Given the description of an element on the screen output the (x, y) to click on. 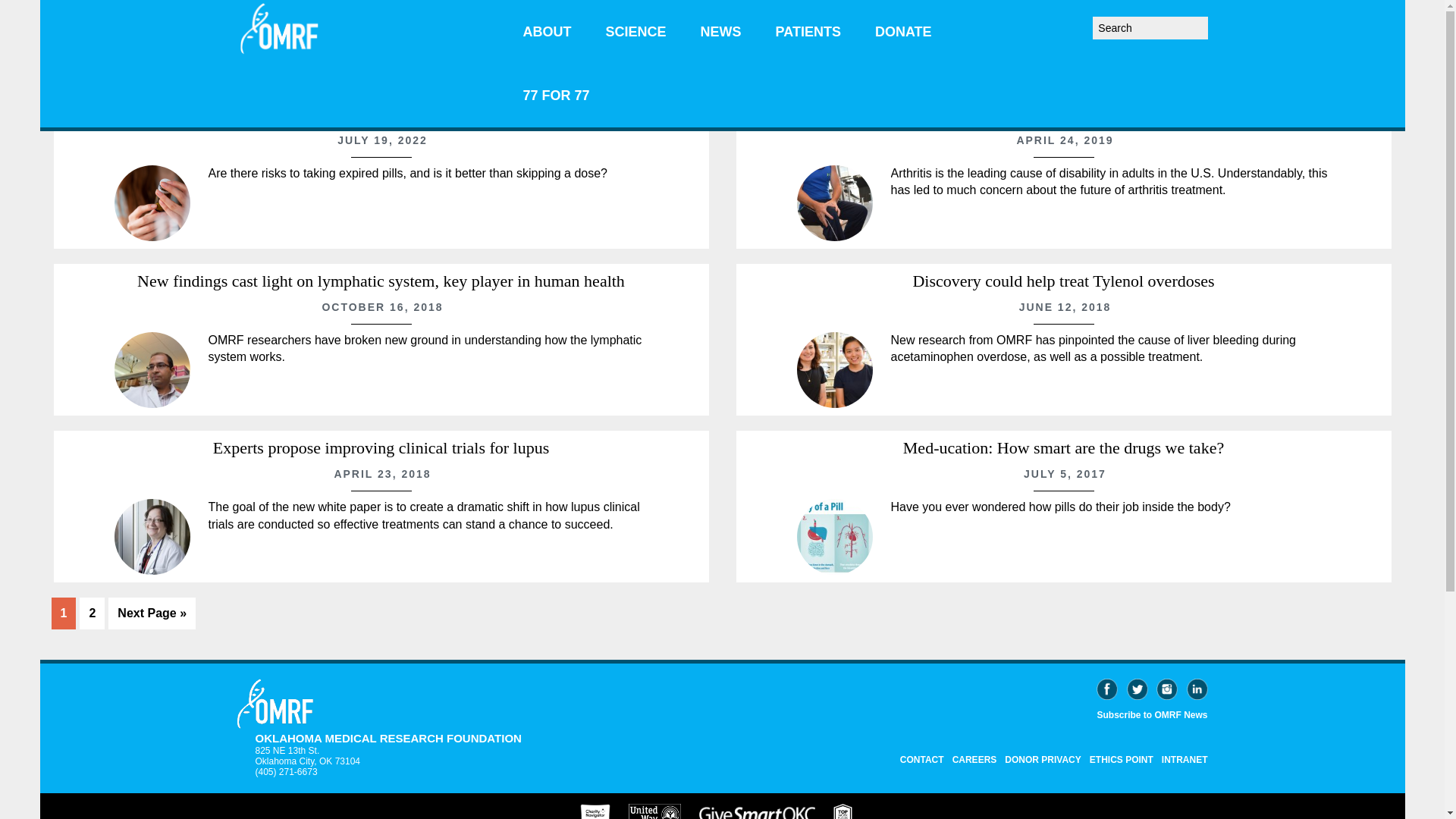
Search (1212, 21)
DONATE (903, 31)
Search (1212, 21)
SCIENCE (636, 31)
ABOUT (547, 31)
PATIENTS (808, 31)
NEWS (721, 31)
